Given the description of an element on the screen output the (x, y) to click on. 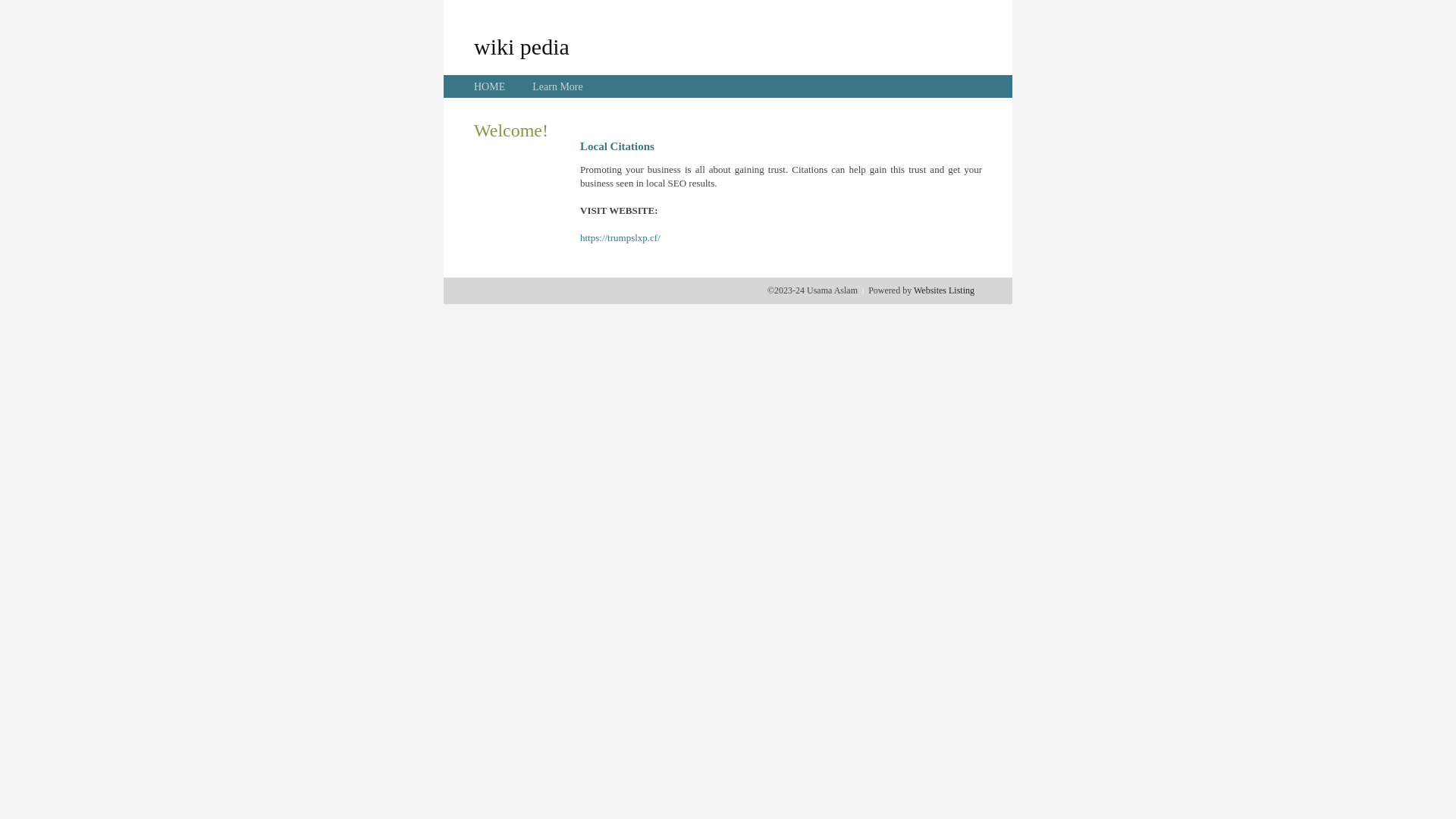
Websites Listing Element type: text (943, 290)
https://trumpslxp.cf/ Element type: text (620, 237)
HOME Element type: text (489, 86)
wiki pedia Element type: text (521, 46)
Learn More Element type: text (557, 86)
